Given the description of an element on the screen output the (x, y) to click on. 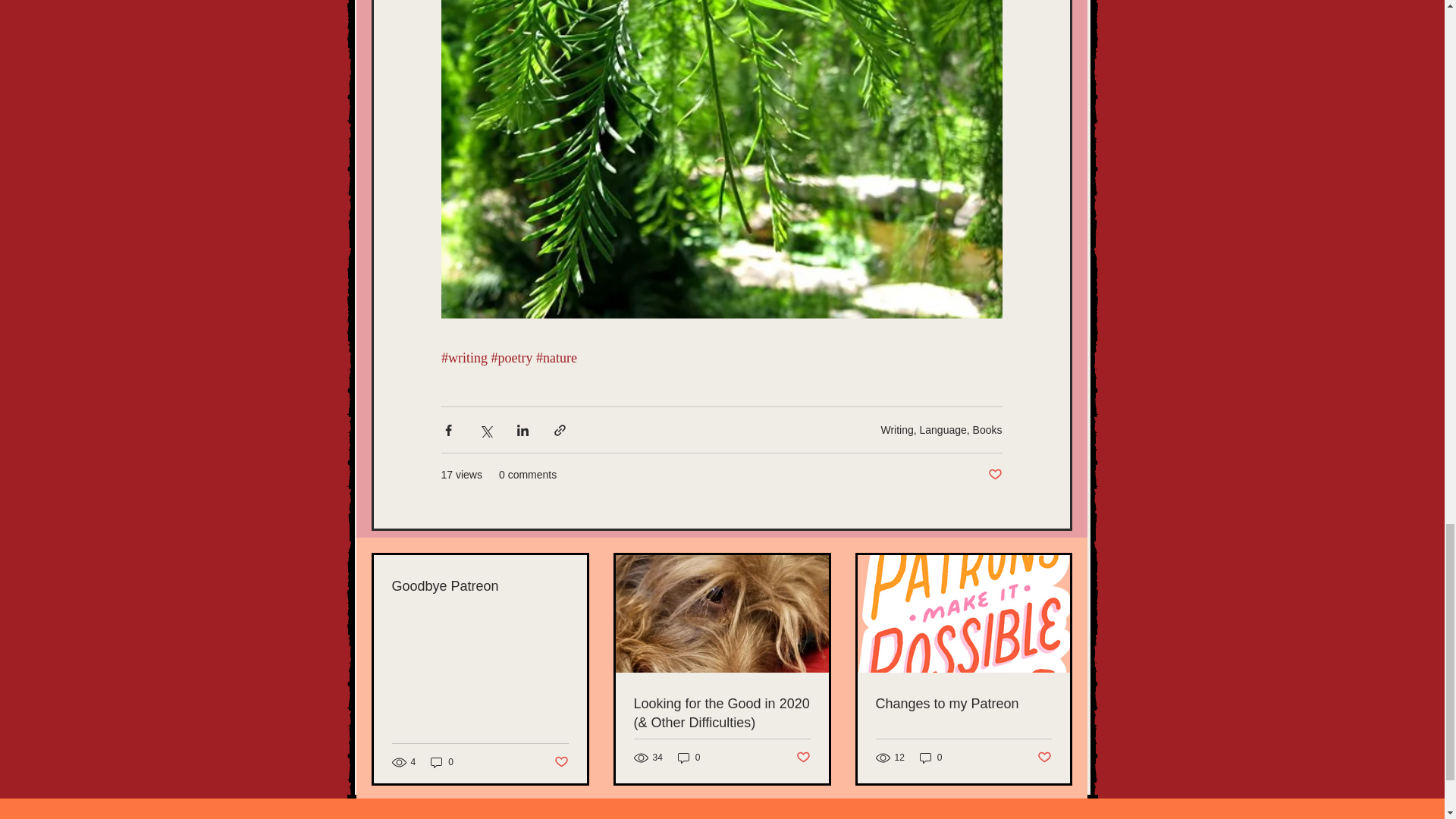
0 (441, 762)
0 (930, 757)
0 (689, 757)
Writing, Language, Books (940, 429)
Post not marked as liked (560, 762)
Goodbye Patreon (479, 586)
Post not marked as liked (1043, 757)
Changes to my Patreon (963, 703)
Post not marked as liked (994, 474)
Post not marked as liked (803, 757)
